Given the description of an element on the screen output the (x, y) to click on. 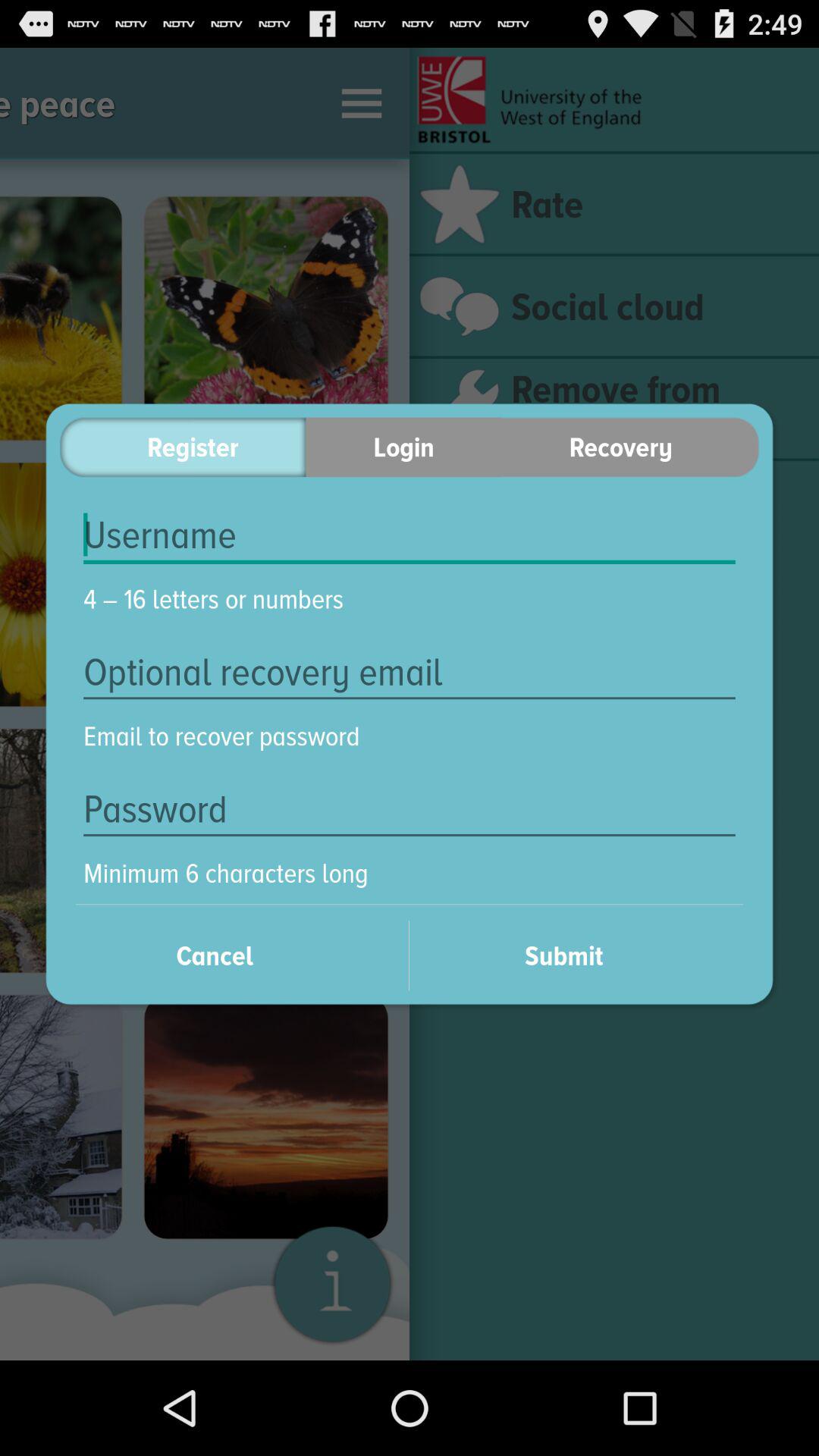
open the cancel item (234, 955)
